Given the description of an element on the screen output the (x, y) to click on. 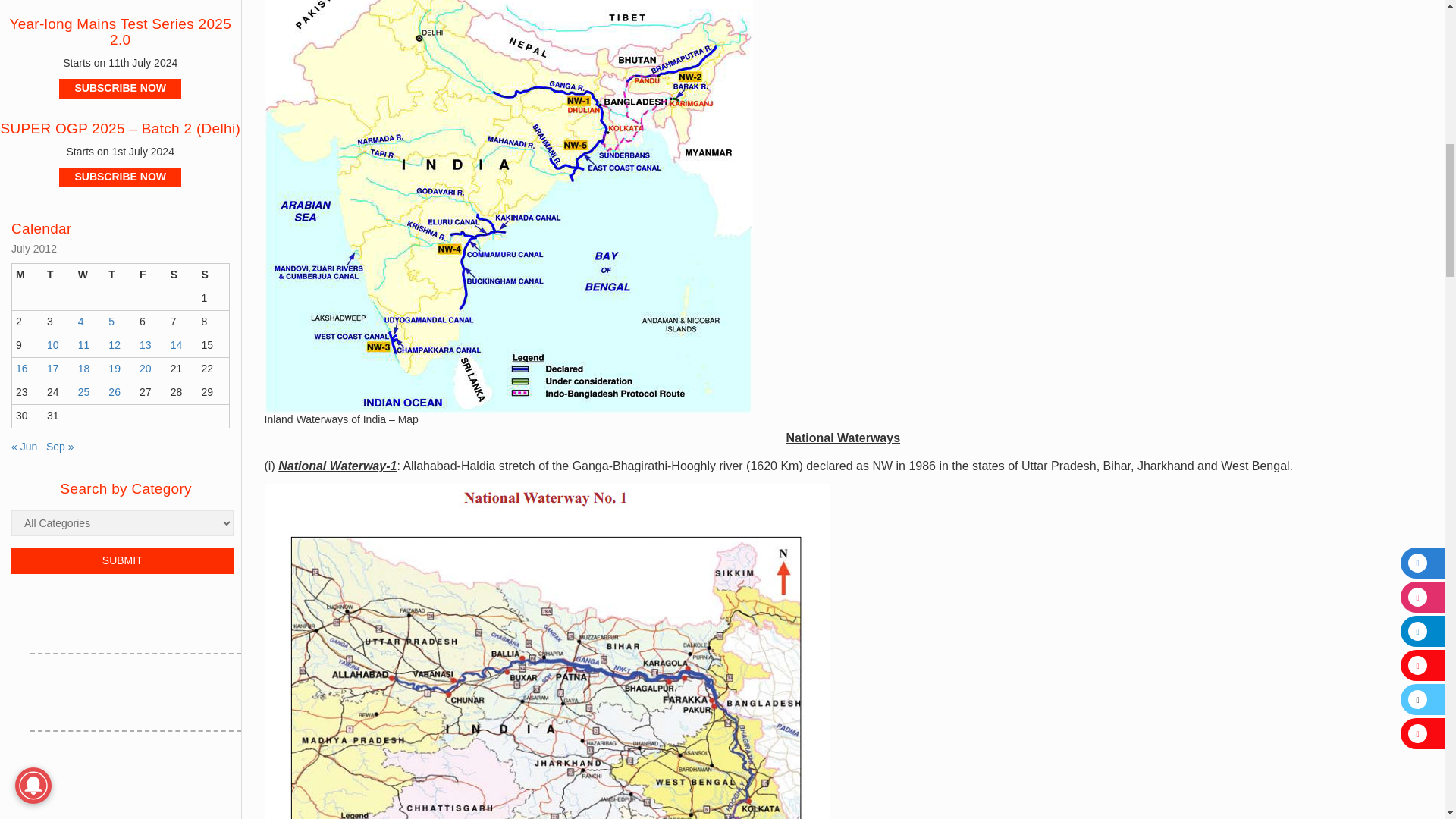
Tuesday (58, 274)
Friday (151, 274)
Saturday (182, 274)
Sunday (212, 274)
Wednesday (89, 274)
Submit (121, 560)
Monday (27, 274)
Thursday (119, 274)
